Given the description of an element on the screen output the (x, y) to click on. 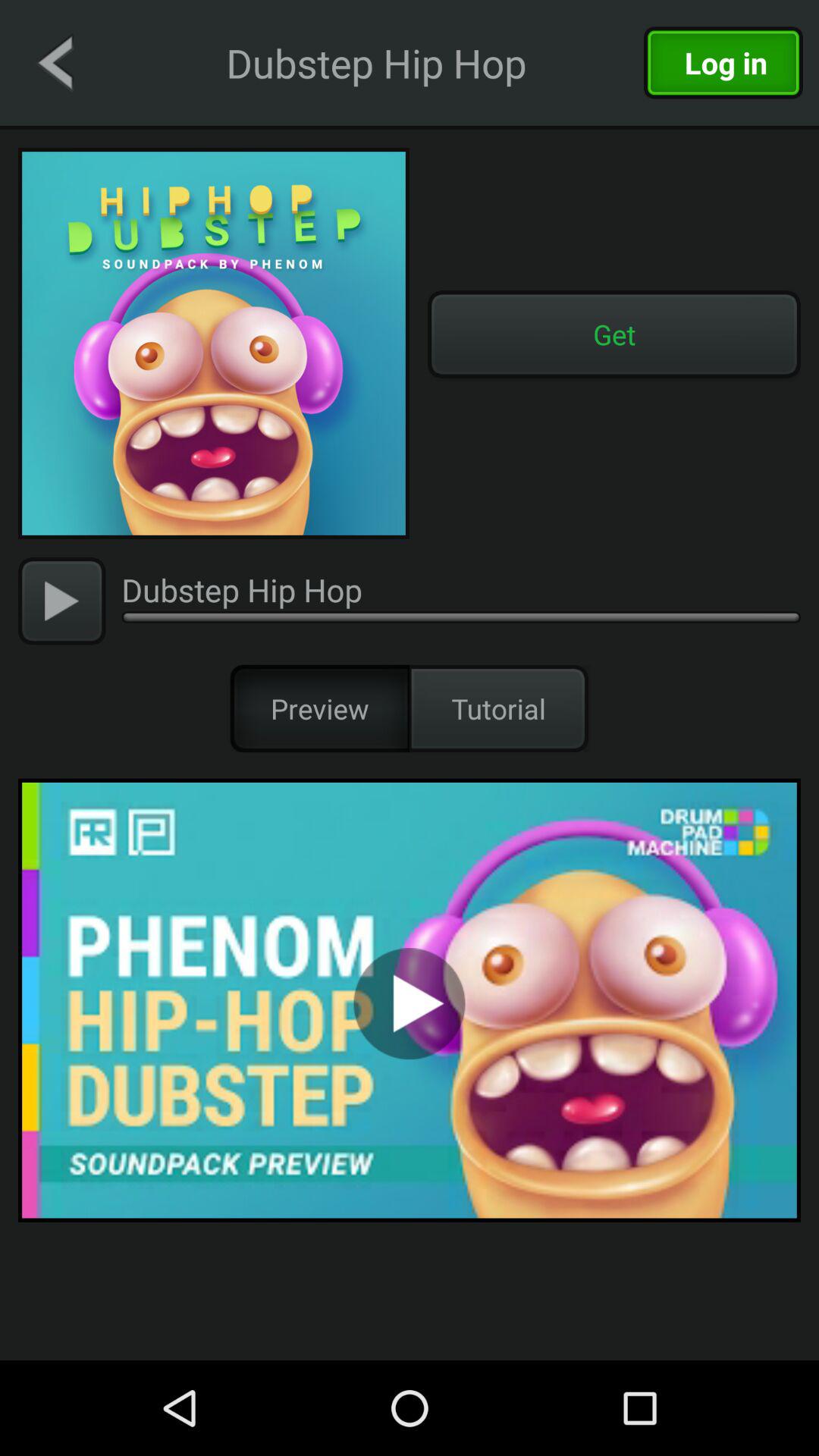
to preview (409, 1000)
